Given the description of an element on the screen output the (x, y) to click on. 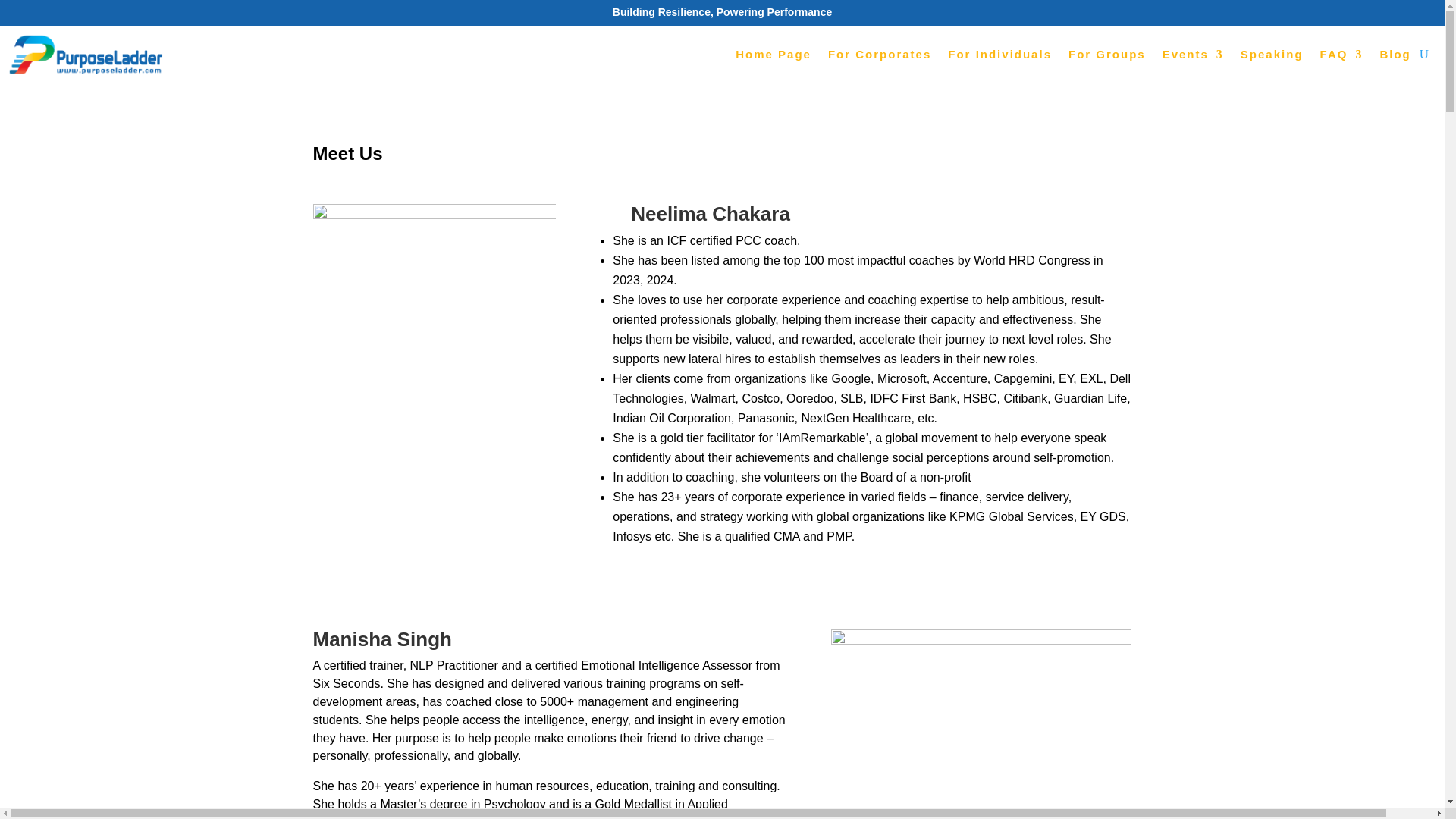
Manisha02-02 (981, 724)
NeelimaChakara-ExecutiveCoach (433, 375)
For Corporates (879, 54)
Blog (1394, 54)
Home Page (772, 54)
For Individuals (999, 54)
Speaking (1271, 54)
For Groups (1106, 54)
FAQ (1341, 54)
Events (1192, 54)
